Given the description of an element on the screen output the (x, y) to click on. 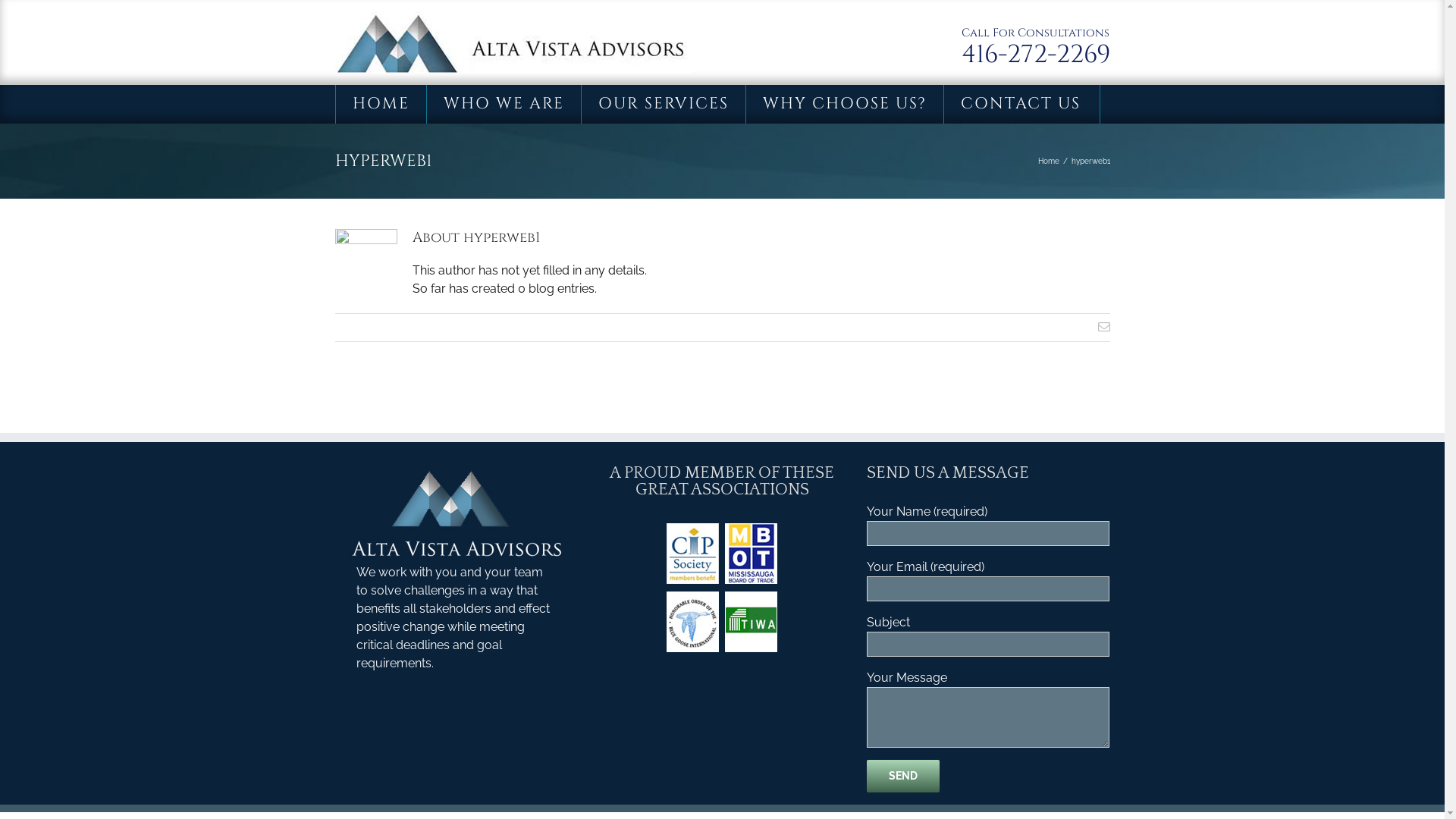
OUR SERVICES Element type: text (662, 103)
Send Element type: text (902, 775)
HOME Element type: text (379, 103)
CONTACT US Element type: text (1019, 103)
WHO WE ARE Element type: text (502, 103)
Home Element type: text (1047, 160)
Mail Element type: hover (1104, 326)
WHY CHOOSE US? Element type: text (844, 103)
416-272-2269 Element type: text (1035, 54)
